Given the description of an element on the screen output the (x, y) to click on. 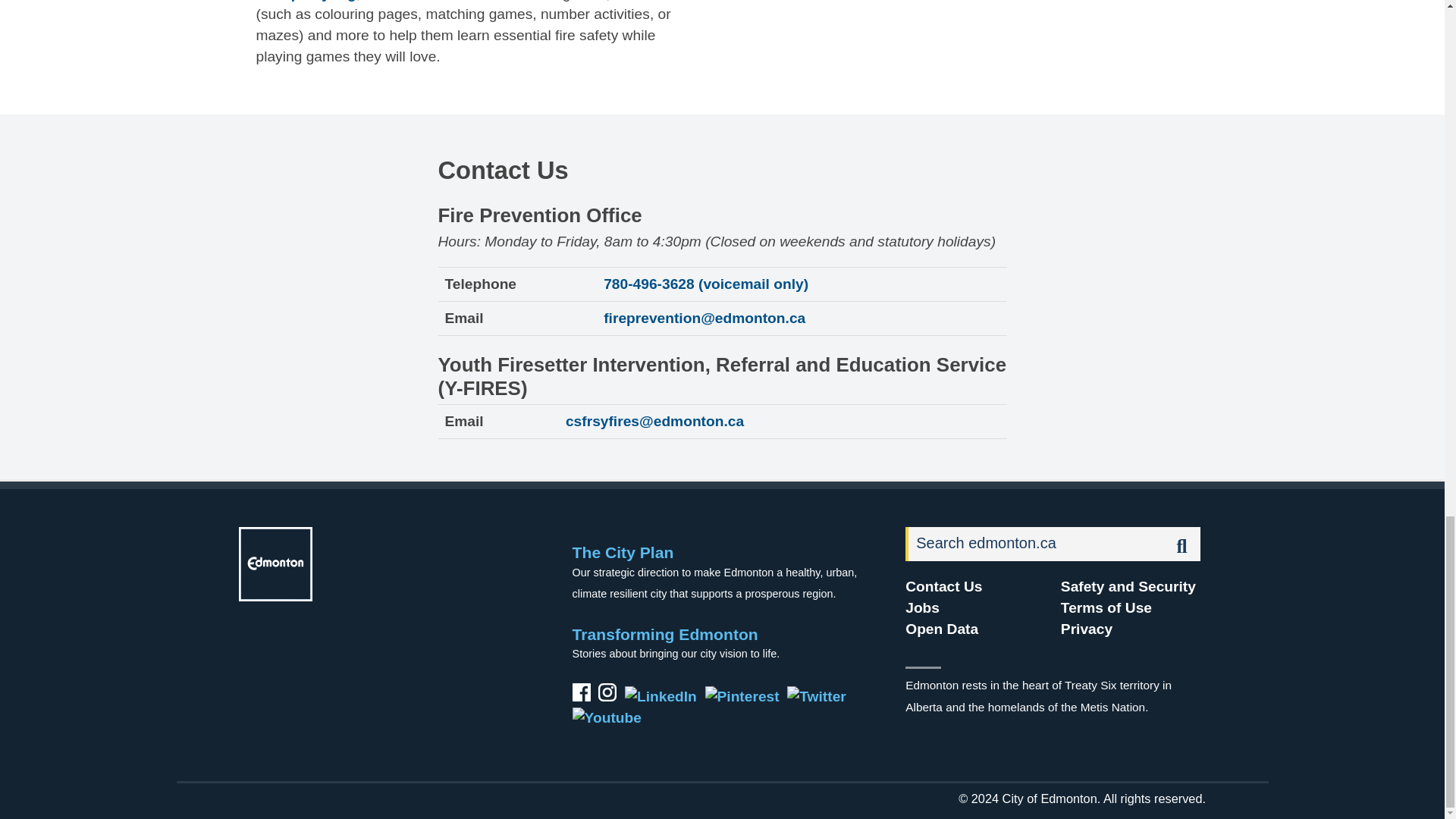
sparky.org (314, 0)
Search (1034, 544)
